Given the description of an element on the screen output the (x, y) to click on. 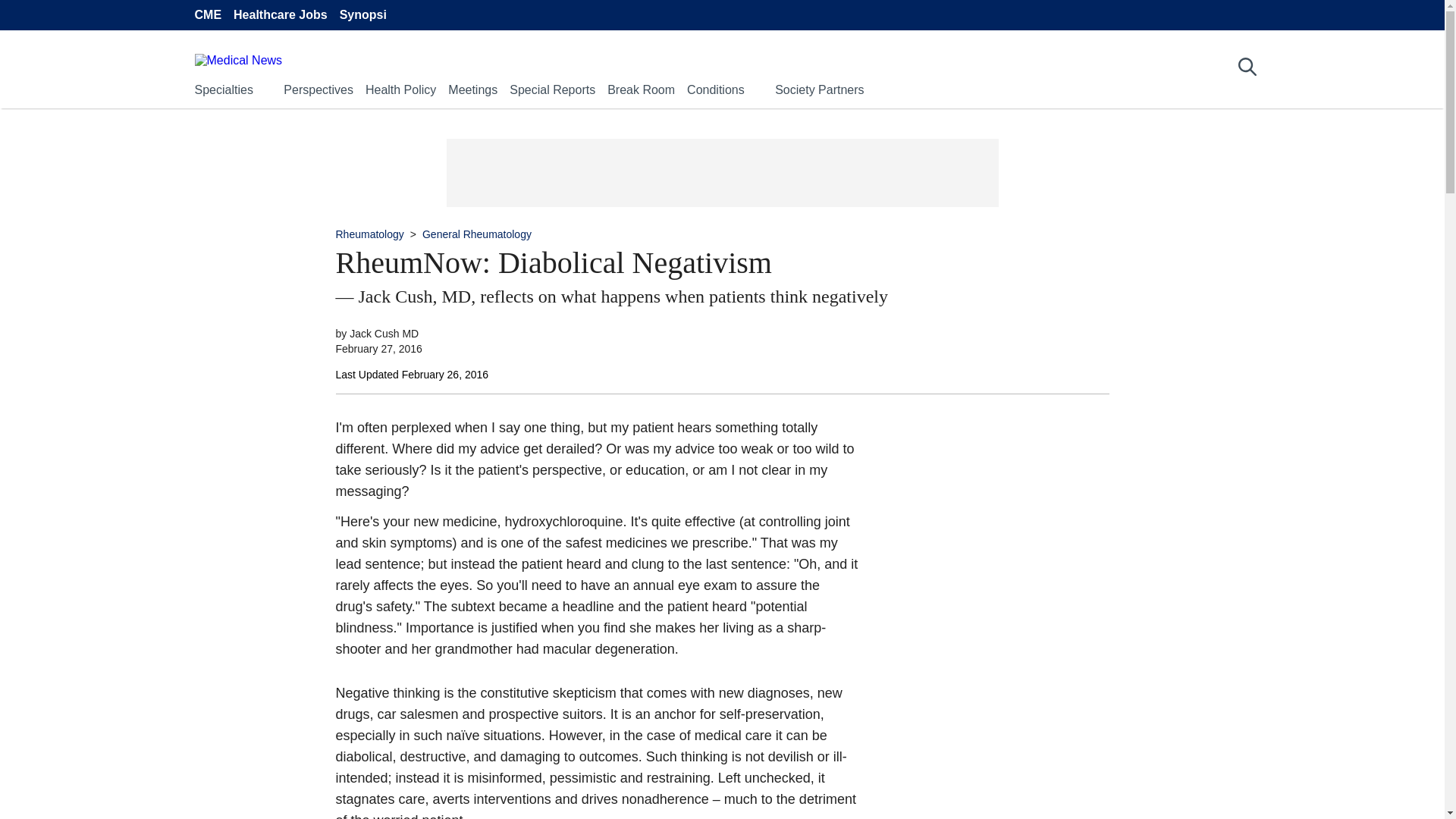
Specialties (222, 89)
Synopsi (363, 15)
CME (207, 15)
Healthcare Jobs (279, 15)
